Given the description of an element on the screen output the (x, y) to click on. 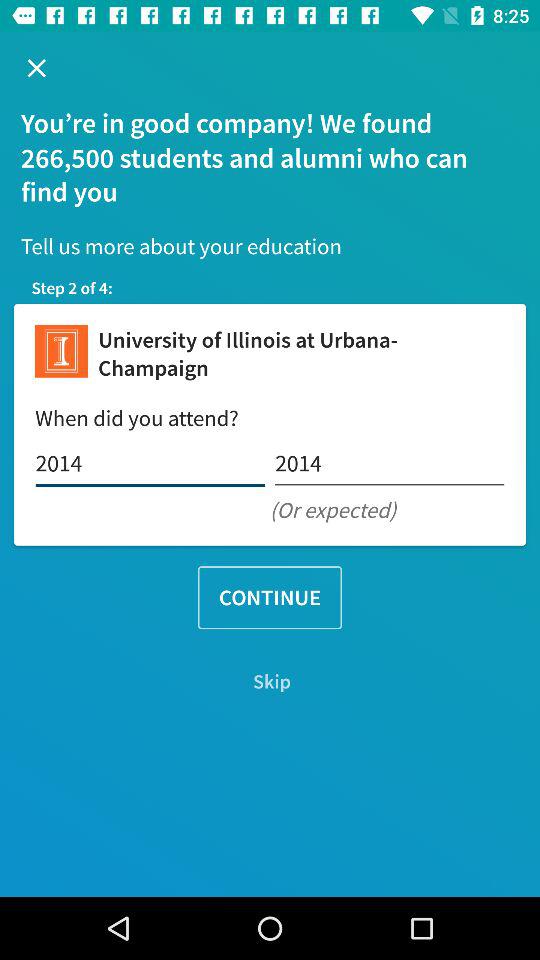
turn off the item below the (or expected) item (269, 597)
